Given the description of an element on the screen output the (x, y) to click on. 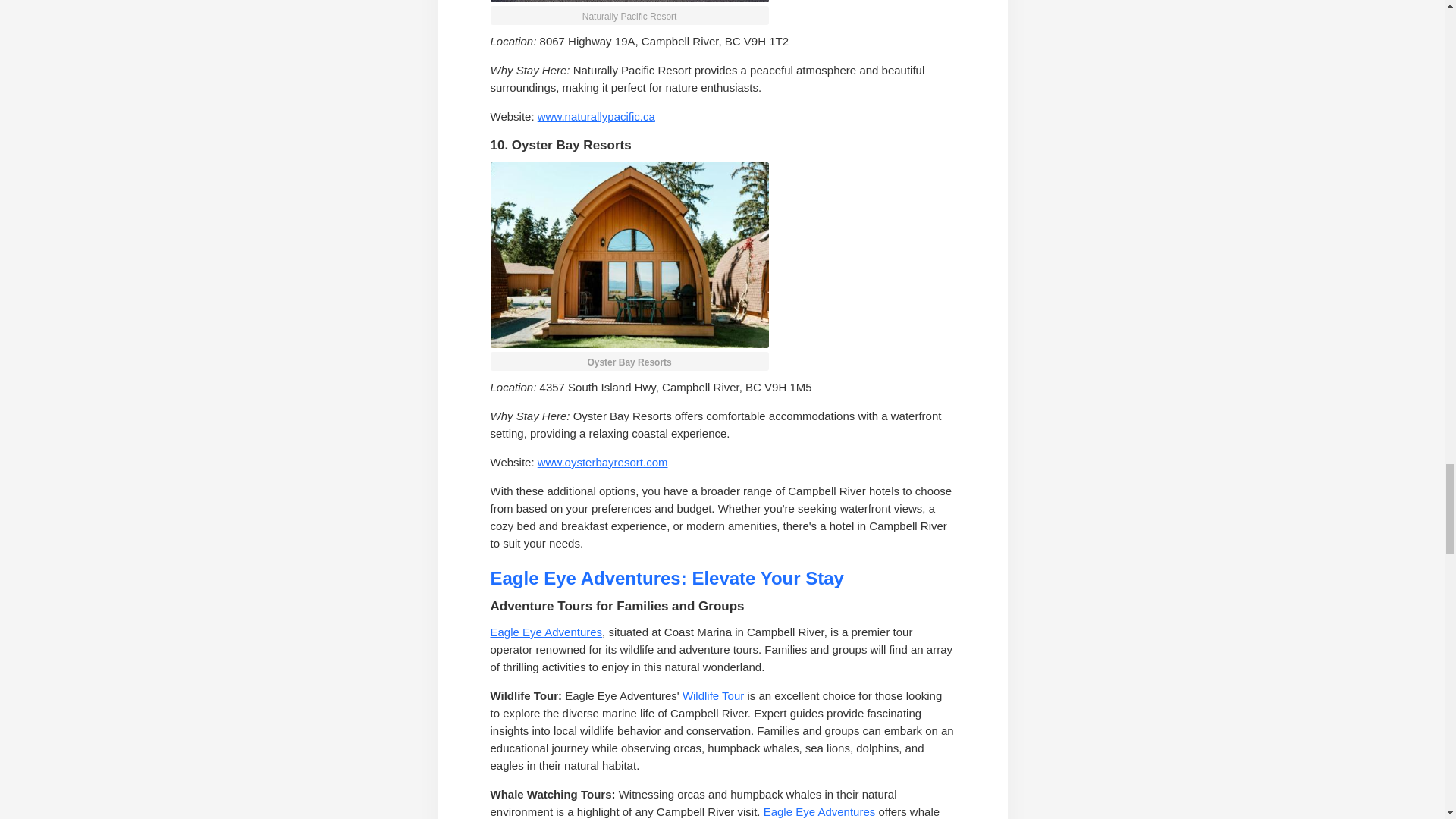
Wildlife Tour (713, 695)
www.naturallypacific.ca (596, 115)
Eagle Eye Adventures (545, 631)
Eagle Eye Adventures (819, 811)
www.oysterbayresort.com (602, 461)
